Given the description of an element on the screen output the (x, y) to click on. 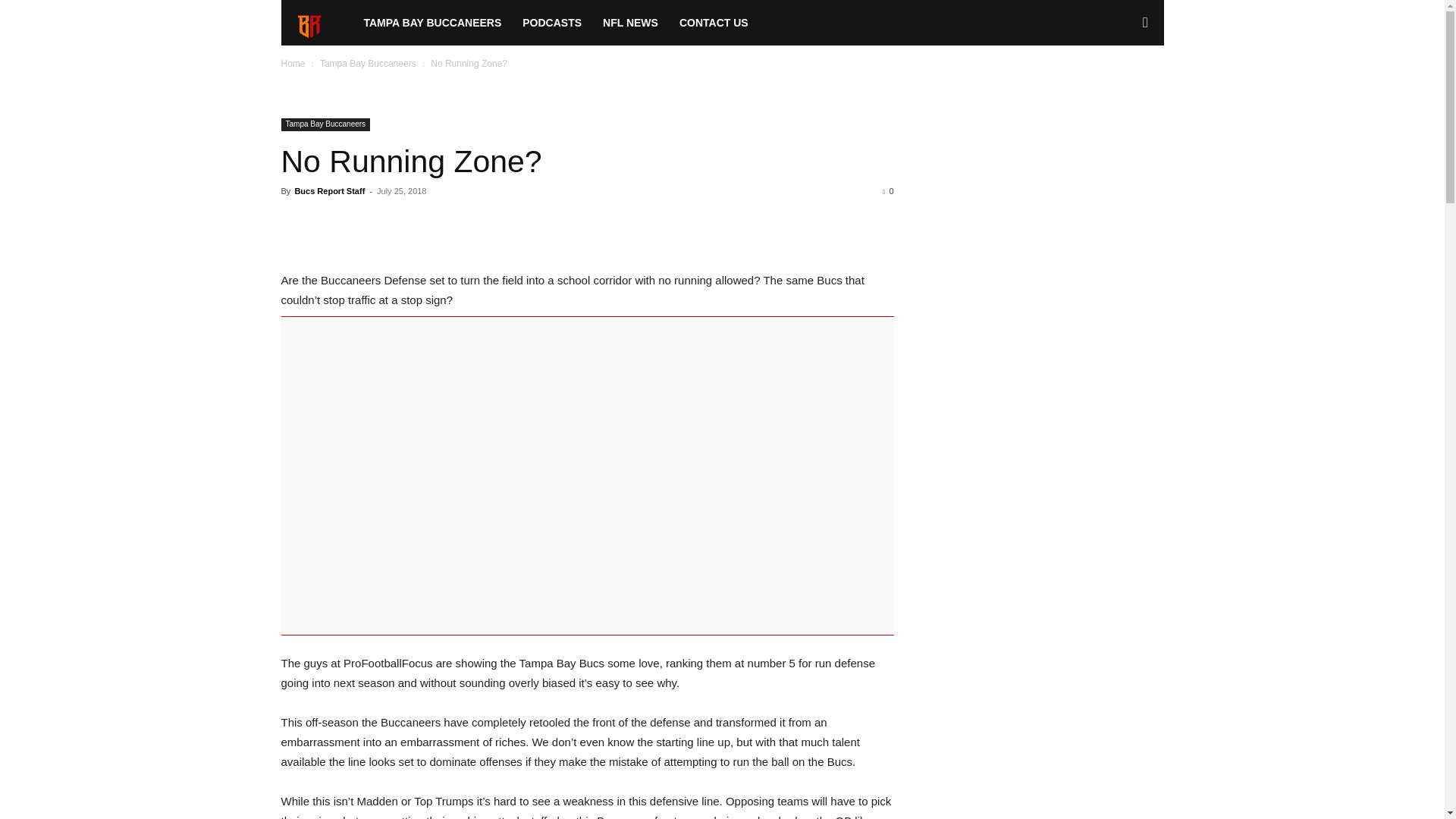
PODCASTS (552, 22)
Search (1121, 87)
Bucs Report (316, 24)
CONTACT US (713, 22)
0 (887, 190)
TAMPA BAY BUCCANEERS (432, 22)
Tampa Bay Buccaneers (368, 63)
NFL NEWS (630, 22)
Bucs Report Staff (329, 190)
Tampa Bay Buccaneers (325, 124)
